Given the description of an element on the screen output the (x, y) to click on. 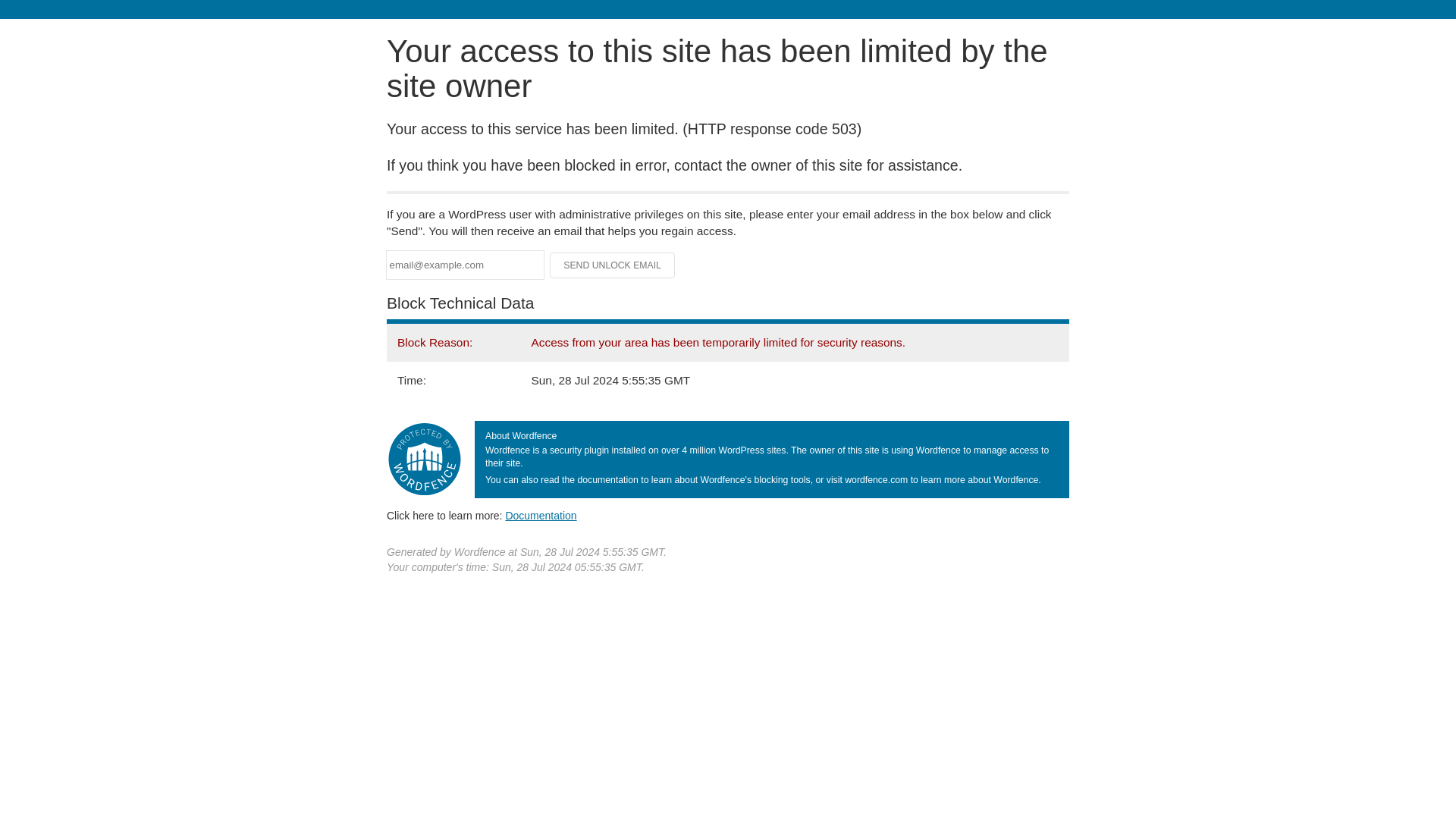
Send Unlock Email (612, 265)
Documentation (540, 515)
Send Unlock Email (612, 265)
